Given the description of an element on the screen output the (x, y) to click on. 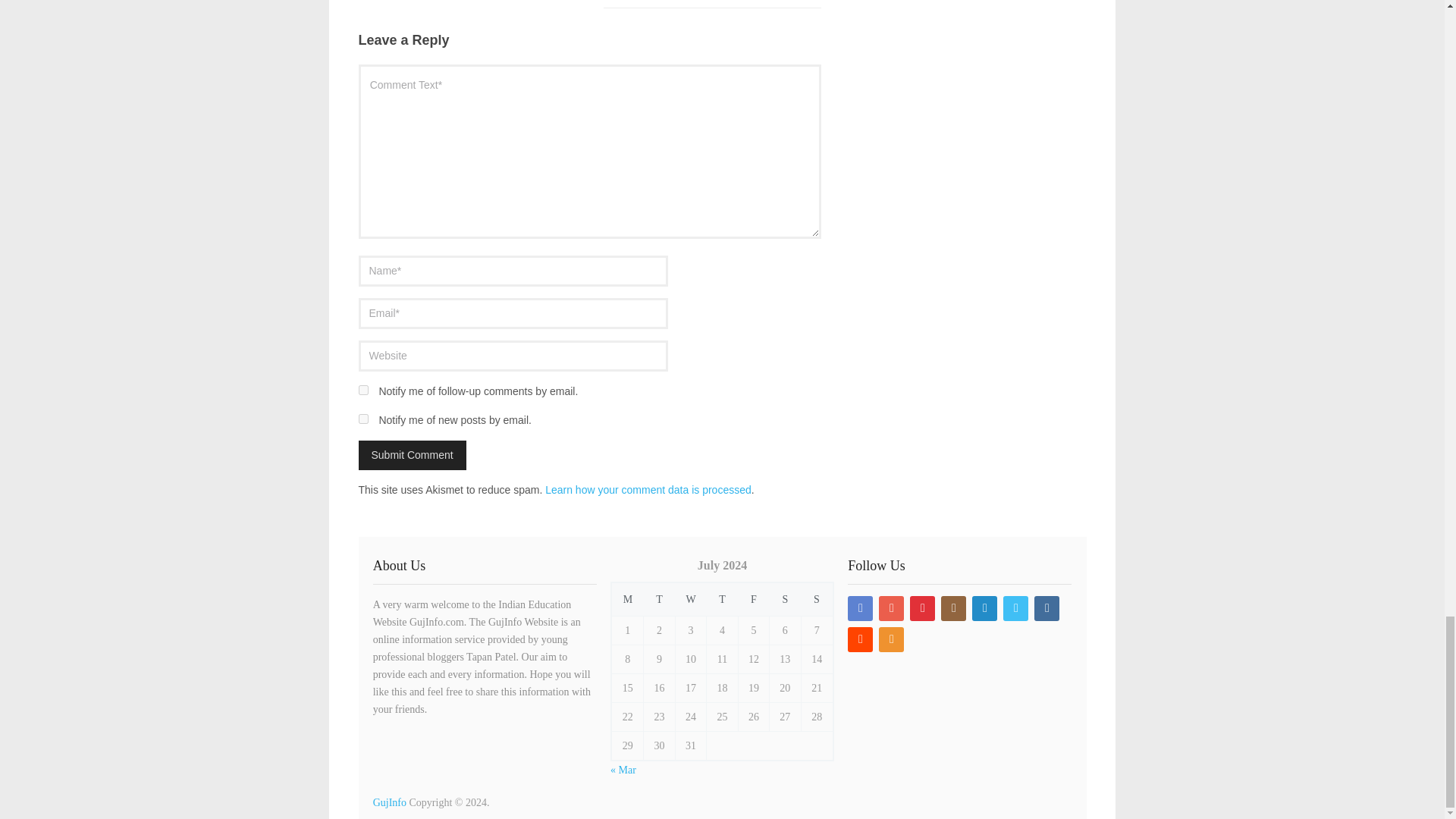
Submit Comment (411, 455)
subscribe (363, 419)
subscribe (363, 389)
